Given the description of an element on the screen output the (x, y) to click on. 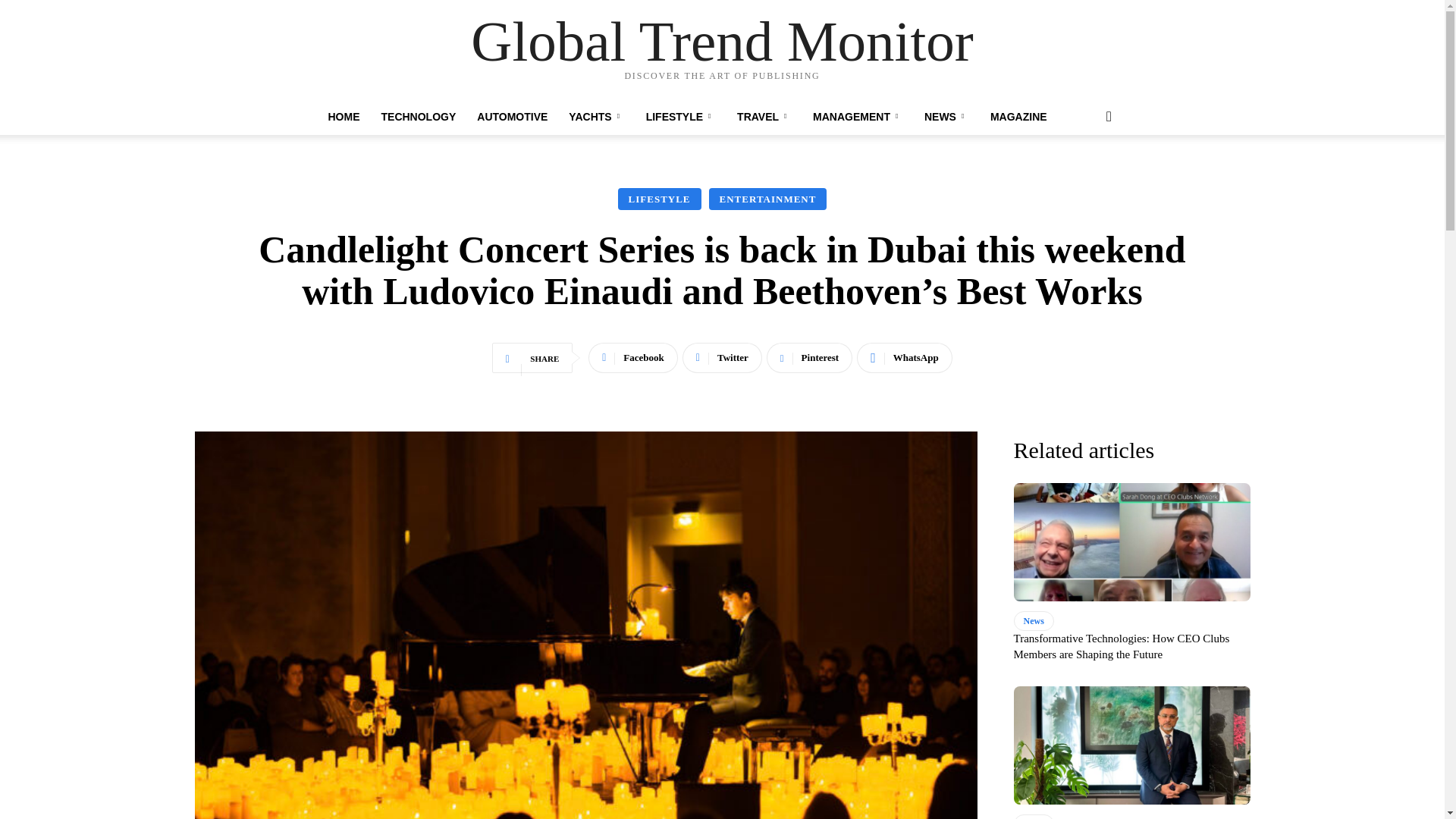
WhatsApp (904, 358)
HOME (343, 116)
Facebook (633, 358)
AUTOMOTIVE (511, 116)
Pinterest (809, 358)
TECHNOLOGY (417, 116)
Twitter (721, 358)
YACHTS (595, 116)
LIFESTYLE (680, 116)
Global Trend Monitor (722, 41)
